Given the description of an element on the screen output the (x, y) to click on. 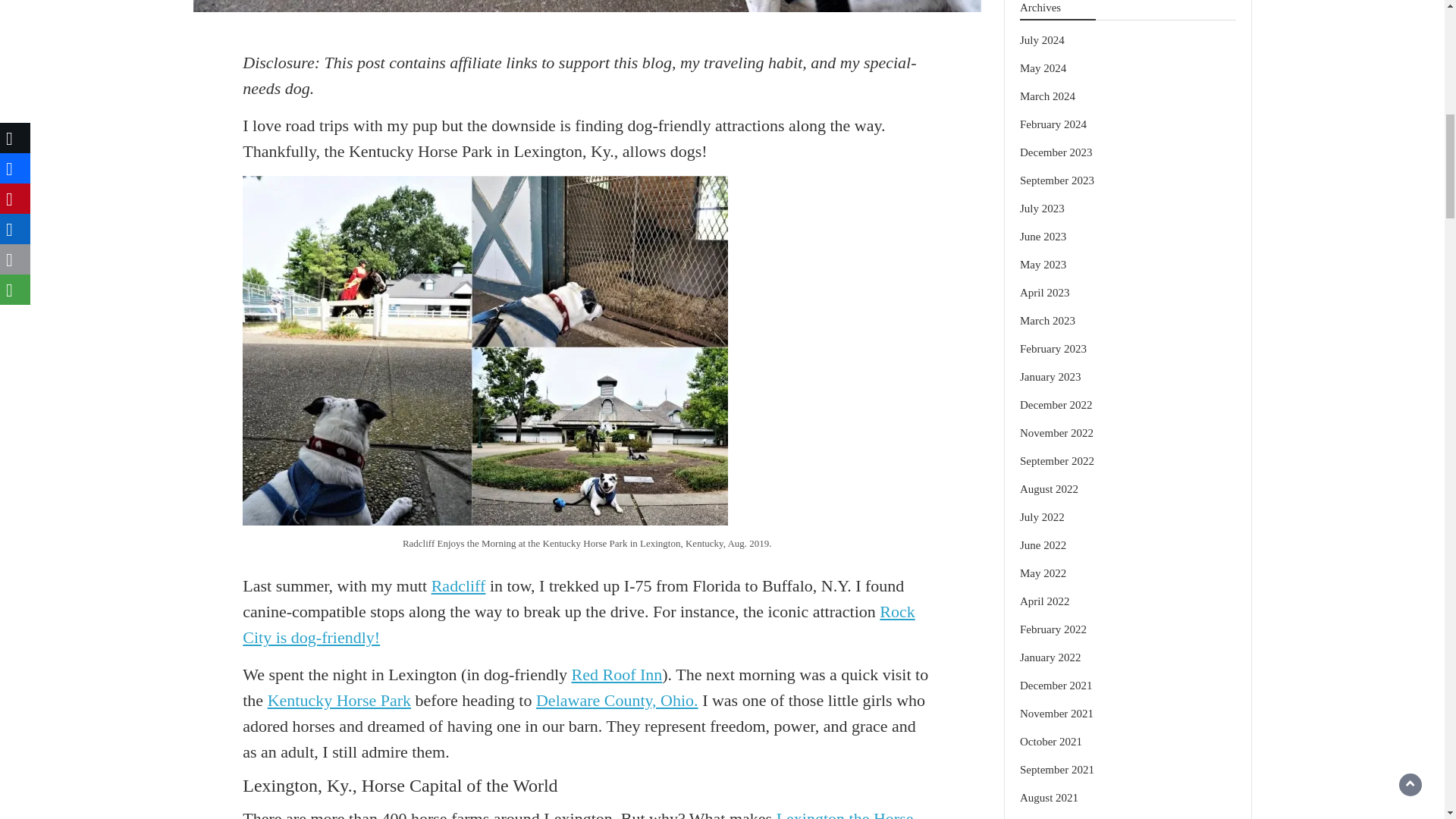
Rock City is dog-friendly! (578, 624)
Radcliff (458, 585)
Red Roof Inn (617, 674)
Kentucky Horse Park (338, 700)
